Given the description of an element on the screen output the (x, y) to click on. 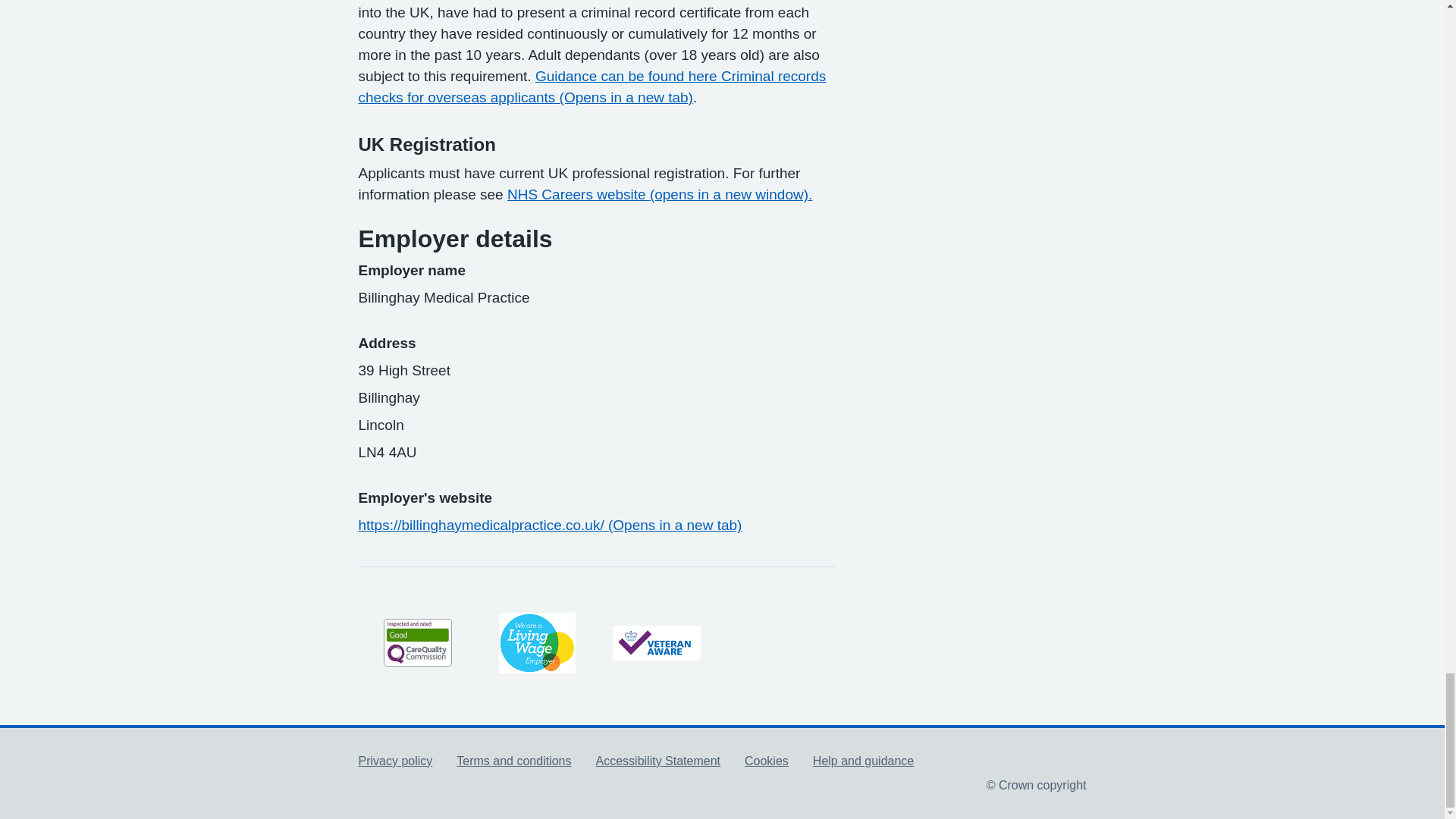
Cookies (766, 760)
Privacy policy (395, 760)
Help and guidance (863, 760)
Terms and conditions (513, 760)
Accessibility Statement (657, 760)
